Given the description of an element on the screen output the (x, y) to click on. 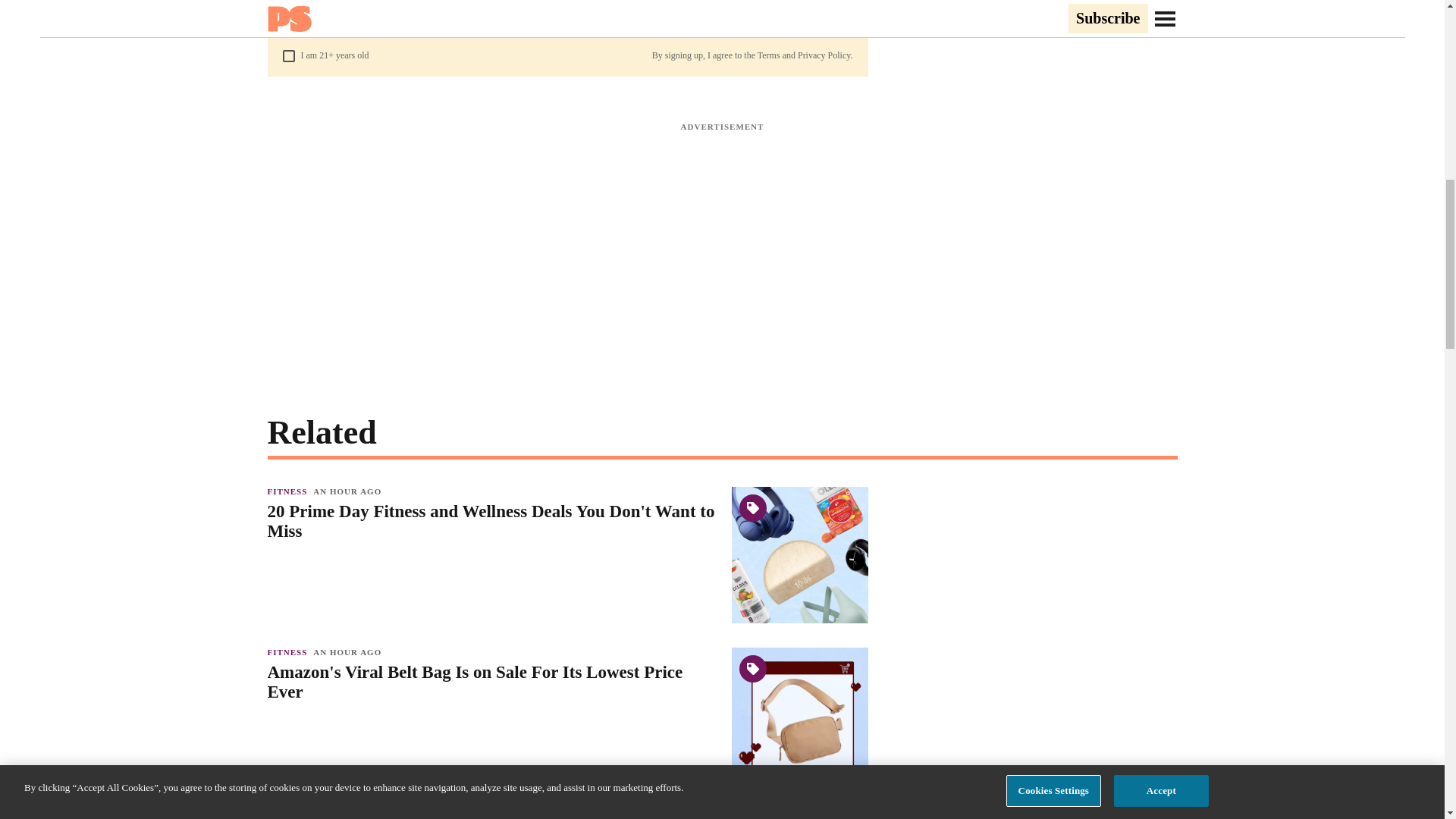
Privacy Policy. (825, 54)
FITNESS (289, 812)
Subscribe (806, 14)
Amazon's Viral Belt Bag Is on Sale For Its Lowest Price Ever (491, 681)
FITNESS (289, 491)
FITNESS (289, 651)
Terms (768, 54)
